Given the description of an element on the screen output the (x, y) to click on. 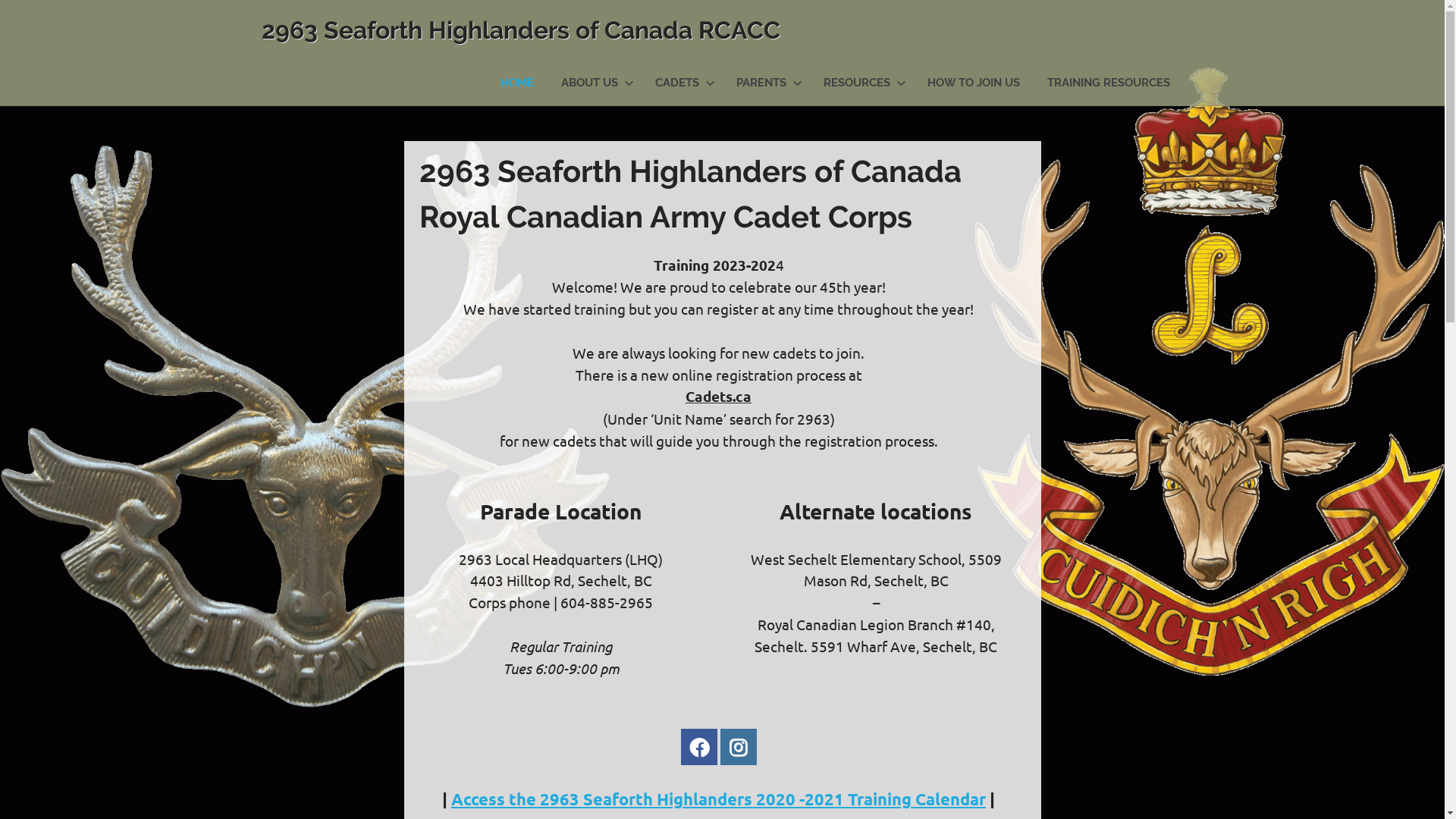
TRAINING RESOURCES Element type: text (1107, 82)
HOME Element type: text (516, 82)
HOW TO JOIN US Element type: text (972, 82)
2963 Seaforth Highlanders of Canada RCACC Element type: text (519, 29)
Cadets.ca Element type: text (718, 395)
PARENTS Element type: text (765, 82)
Instagram Element type: hover (738, 746)
Facebook Element type: hover (698, 746)
CADETS Element type: text (681, 82)
RESOURCES Element type: text (861, 82)
ABOUT US Element type: text (594, 82)
